Given the description of an element on the screen output the (x, y) to click on. 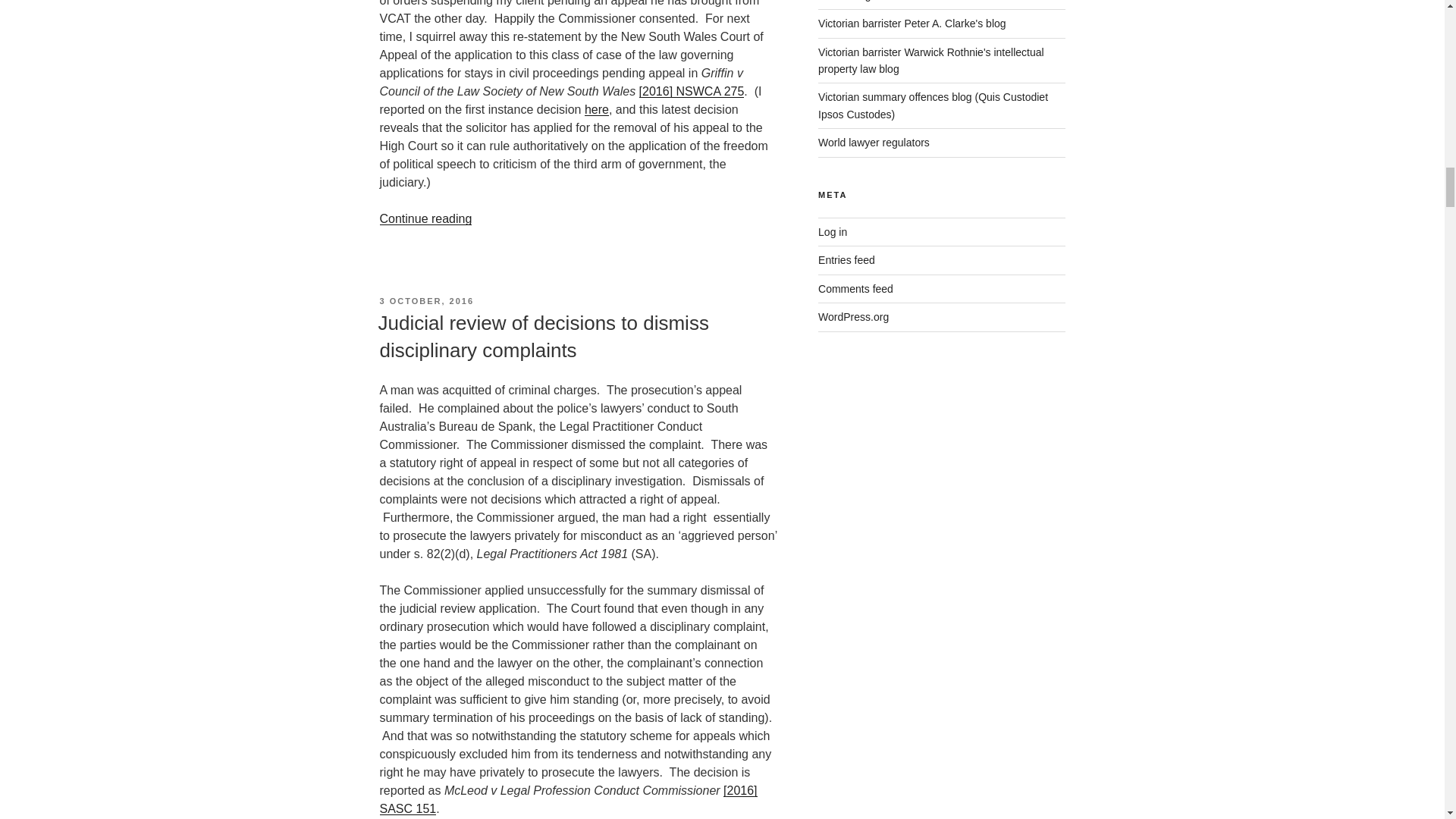
here (596, 109)
3 OCTOBER, 2016 (426, 300)
